Given the description of an element on the screen output the (x, y) to click on. 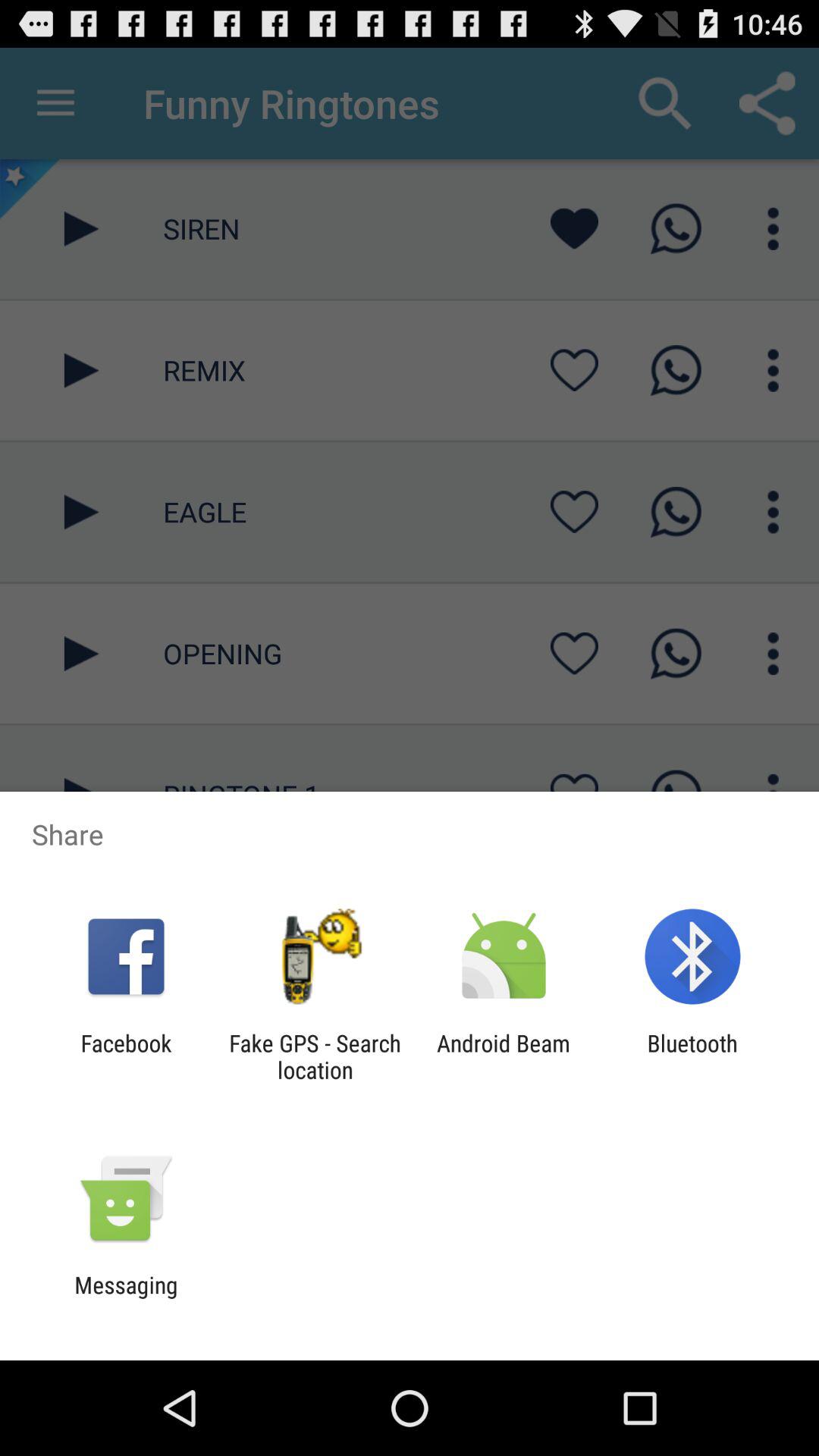
turn off app to the left of the fake gps search item (125, 1056)
